Given the description of an element on the screen output the (x, y) to click on. 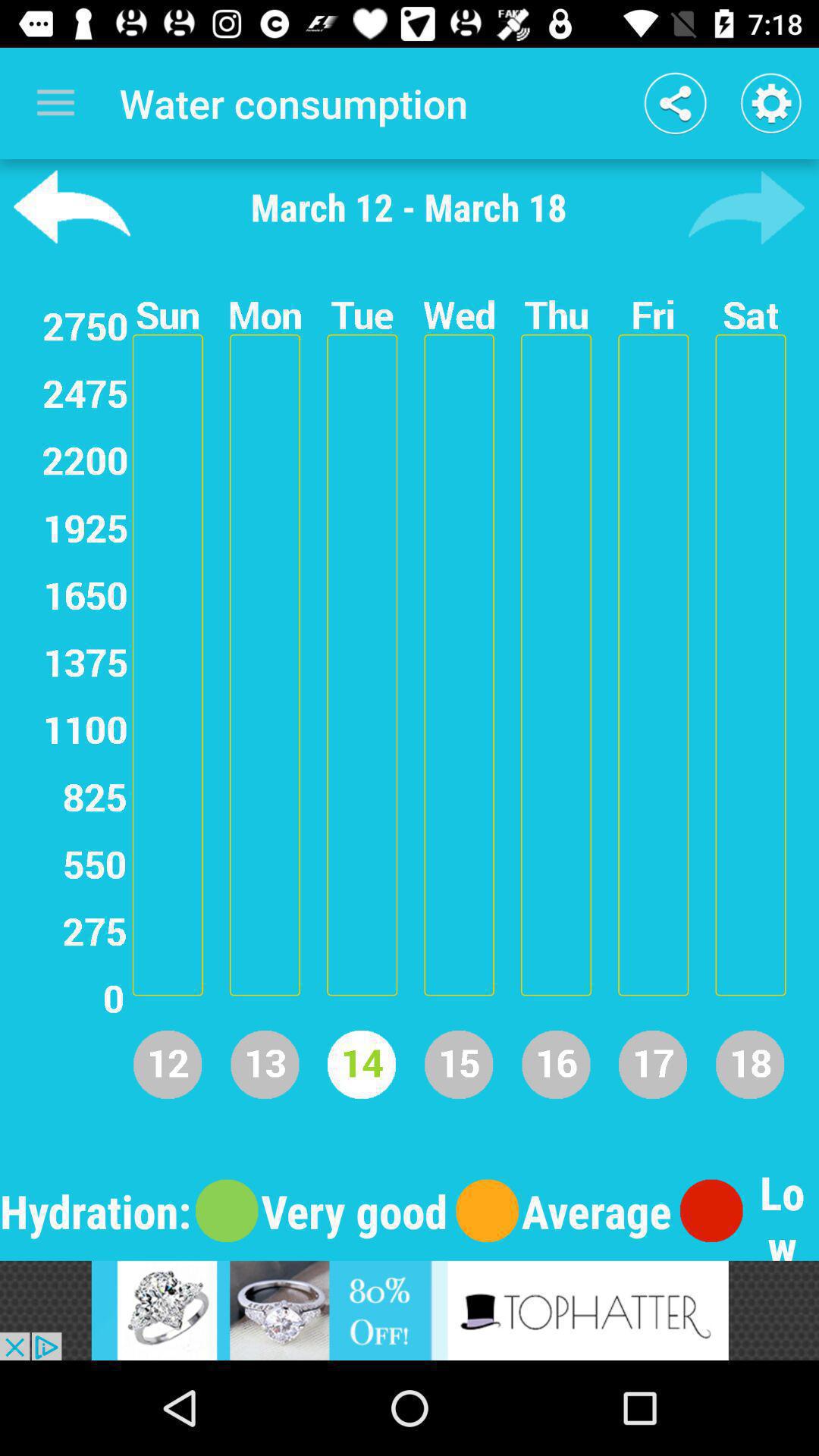
banner advertisement (409, 1310)
